Given the description of an element on the screen output the (x, y) to click on. 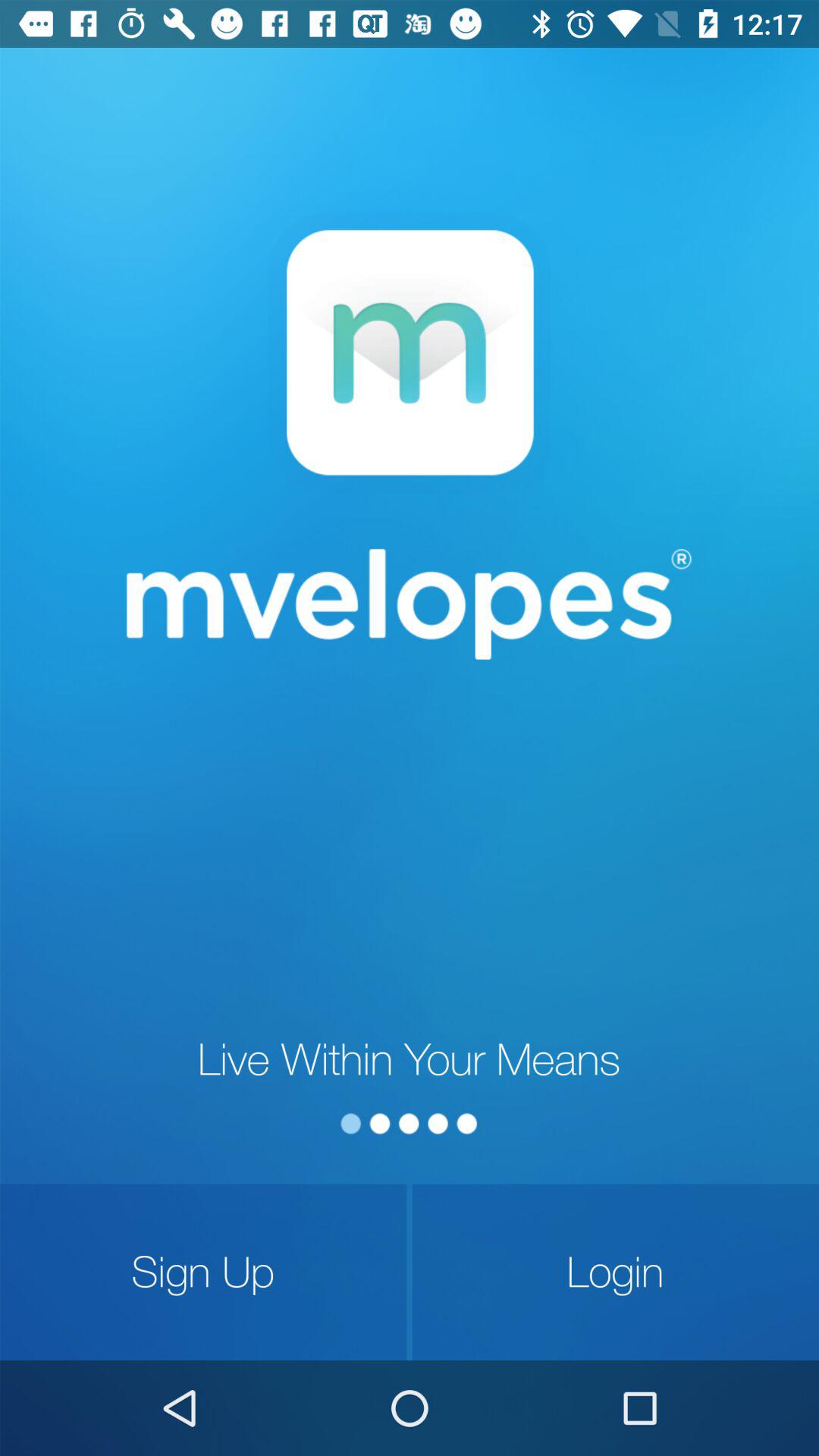
click the icon next to login icon (203, 1272)
